Given the description of an element on the screen output the (x, y) to click on. 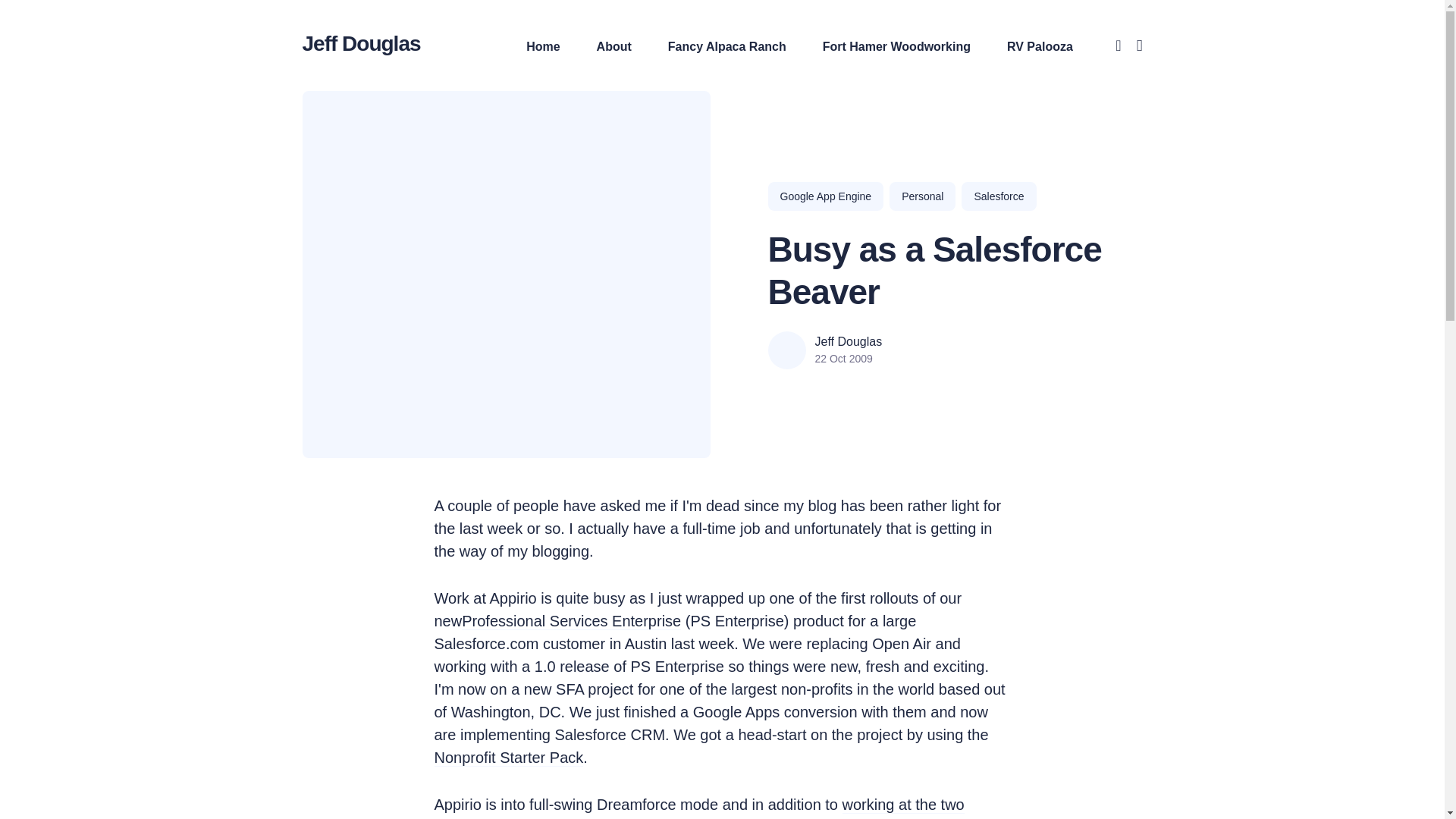
Jeff Douglas (360, 43)
Professional Services Enterprise (571, 623)
working at the two hands-on training sessions (698, 807)
Google App Engine (825, 195)
Fort Hamer Woodworking (896, 46)
Nonprofit Starter Pack (508, 759)
Home (542, 46)
About (613, 46)
Jeff Douglas (847, 341)
Salesforce (997, 195)
Personal (922, 195)
RV Palooza (1040, 46)
Fancy Alpaca Ranch (727, 46)
